Given the description of an element on the screen output the (x, y) to click on. 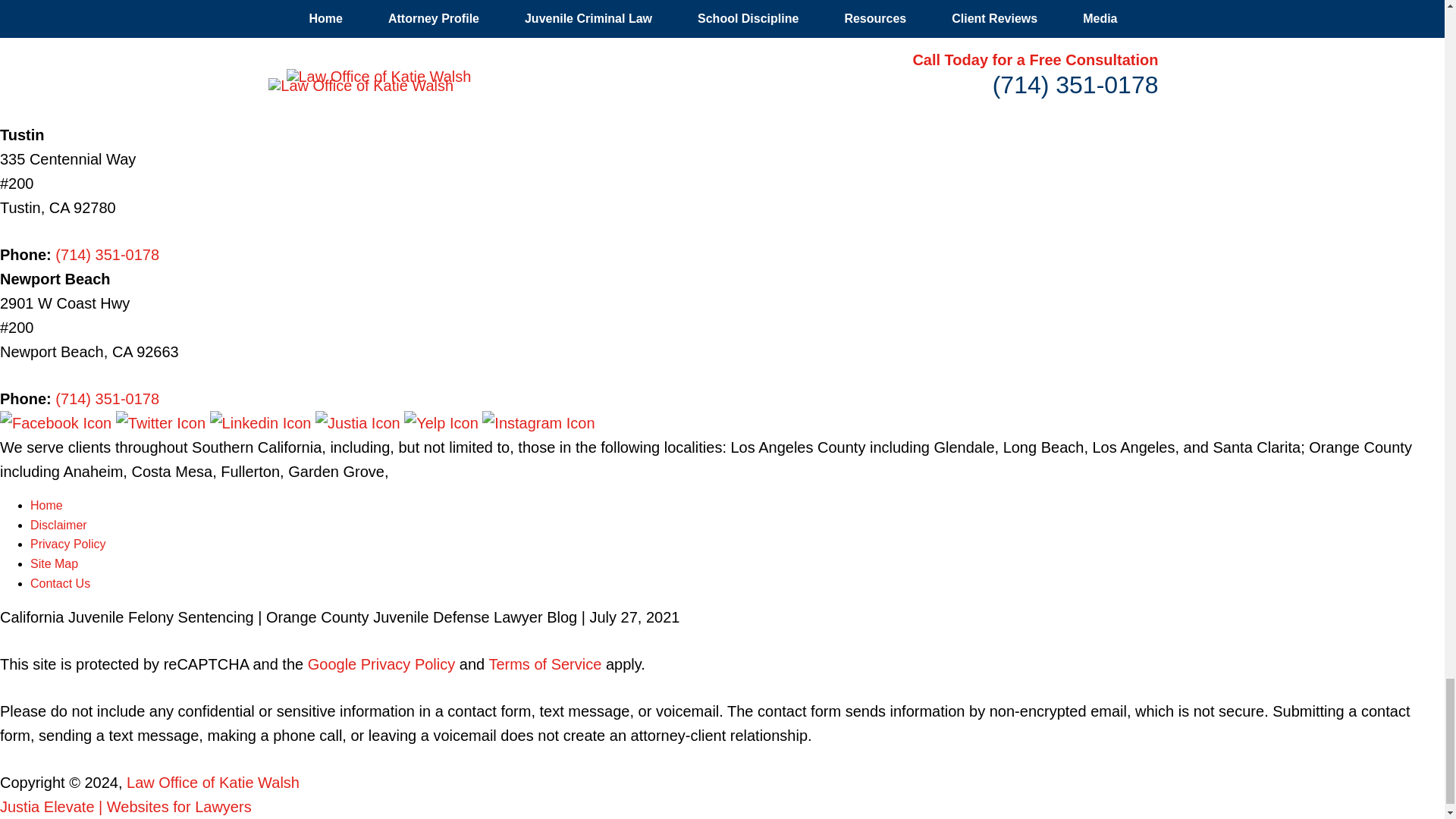
Linkedin (262, 422)
Facebook (58, 422)
Justia (359, 422)
Yelp (442, 422)
Instagram (537, 422)
Twitter (162, 422)
